Given the description of an element on the screen output the (x, y) to click on. 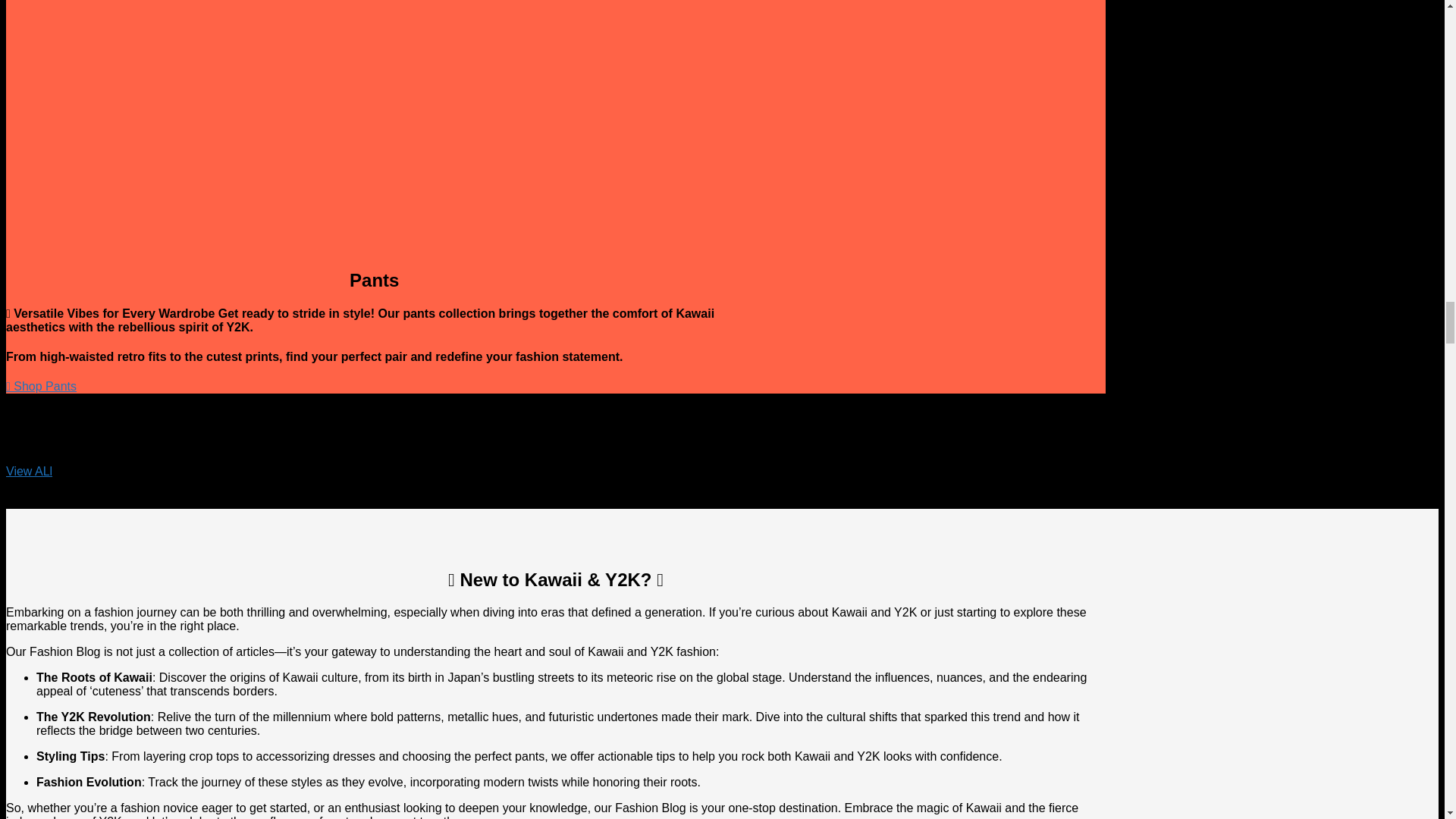
View ALl (28, 471)
